Given the description of an element on the screen output the (x, y) to click on. 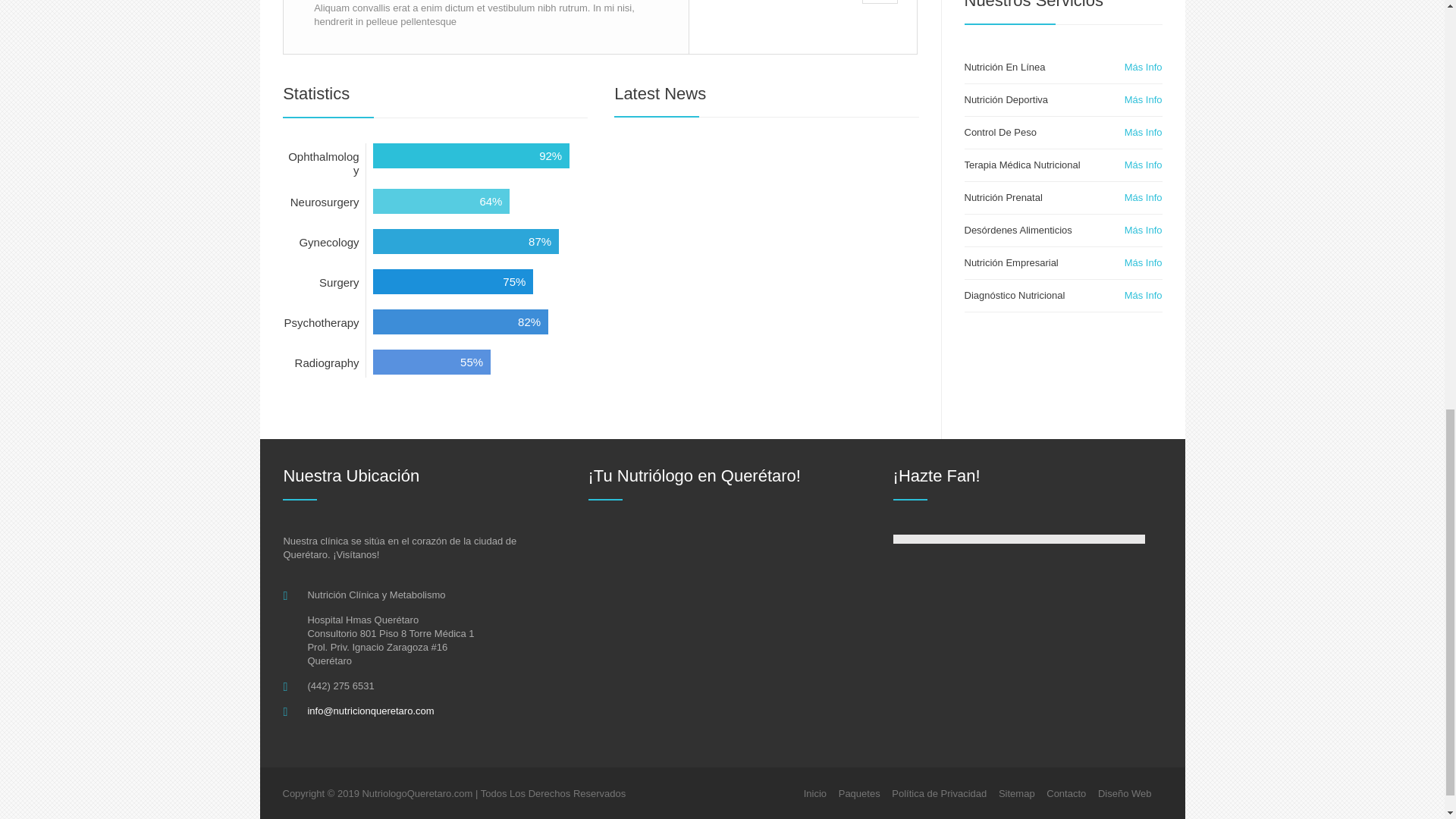
Download! (802, 27)
Download! (802, 27)
